Given the description of an element on the screen output the (x, y) to click on. 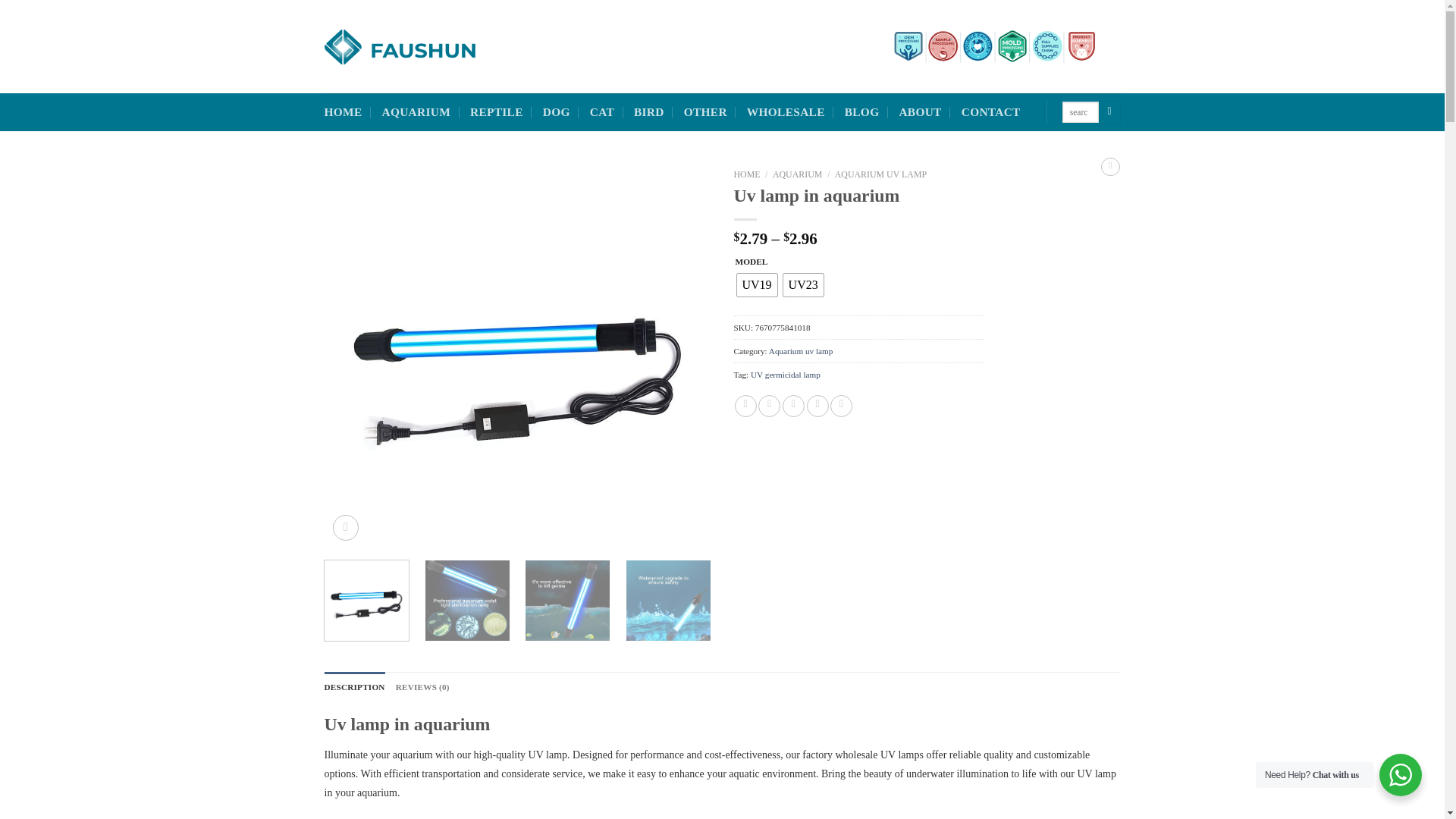
CONTACT (990, 112)
OTHER (705, 112)
AQUARIUM UV LAMP (880, 173)
Search (1110, 111)
REPTILE (496, 112)
Share on Twitter (769, 405)
BLOG (861, 112)
UV germicidal lamp (786, 374)
HOME (343, 112)
UV19 (756, 284)
